Given the description of an element on the screen output the (x, y) to click on. 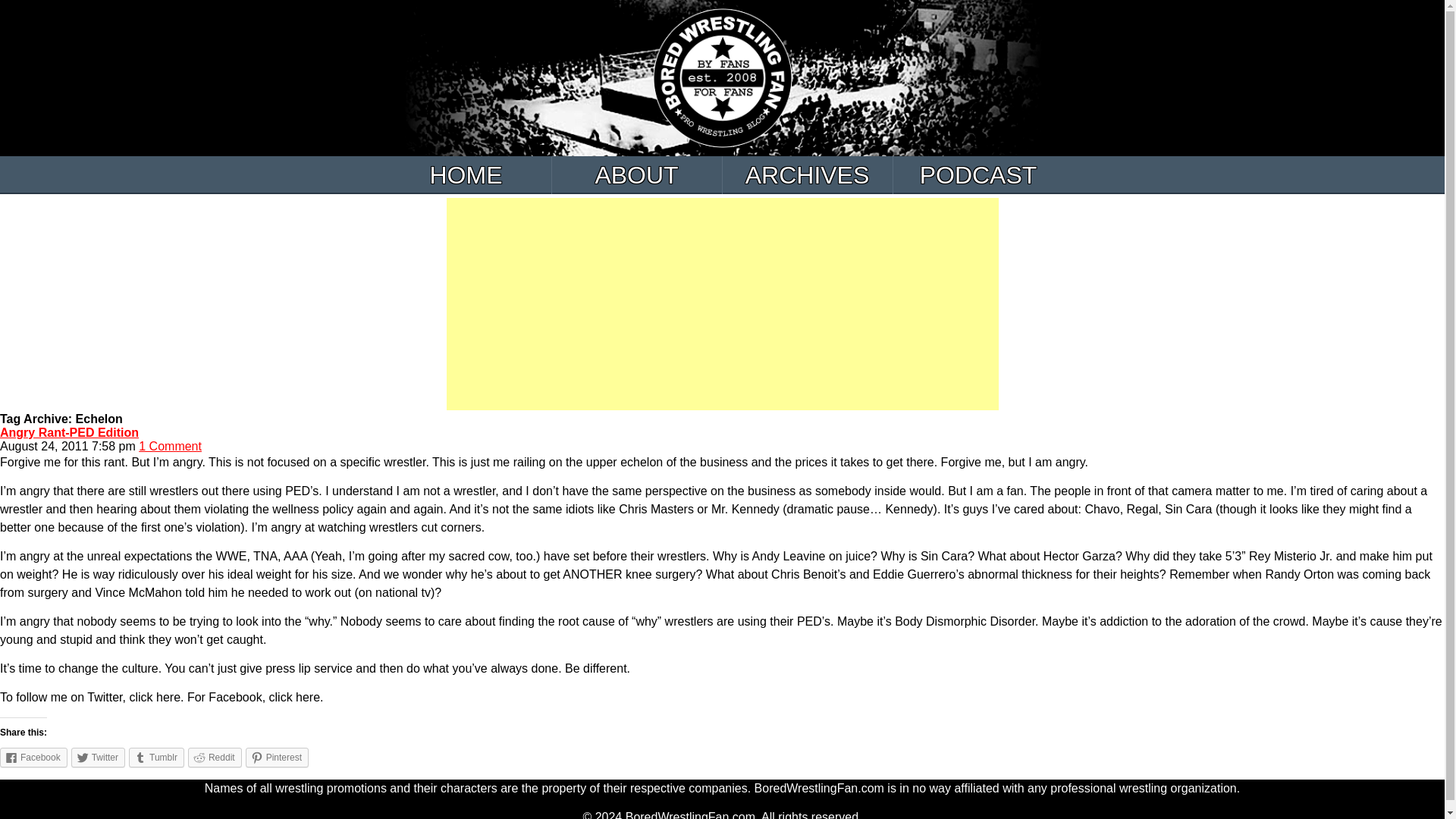
Click to share on Facebook (33, 757)
Tumblr (156, 757)
Podcast (978, 175)
PODCAST (978, 175)
Angry Rant-PED Edition (69, 431)
Advertisement (721, 304)
Facebook (33, 757)
Twitter (98, 757)
Archives (807, 175)
HOME (465, 175)
Click to share on Pinterest (277, 757)
Click to share on Twitter (98, 757)
ARCHIVES (807, 175)
Click to share on Tumblr (156, 757)
Click to share on Reddit (214, 757)
